Given the description of an element on the screen output the (x, y) to click on. 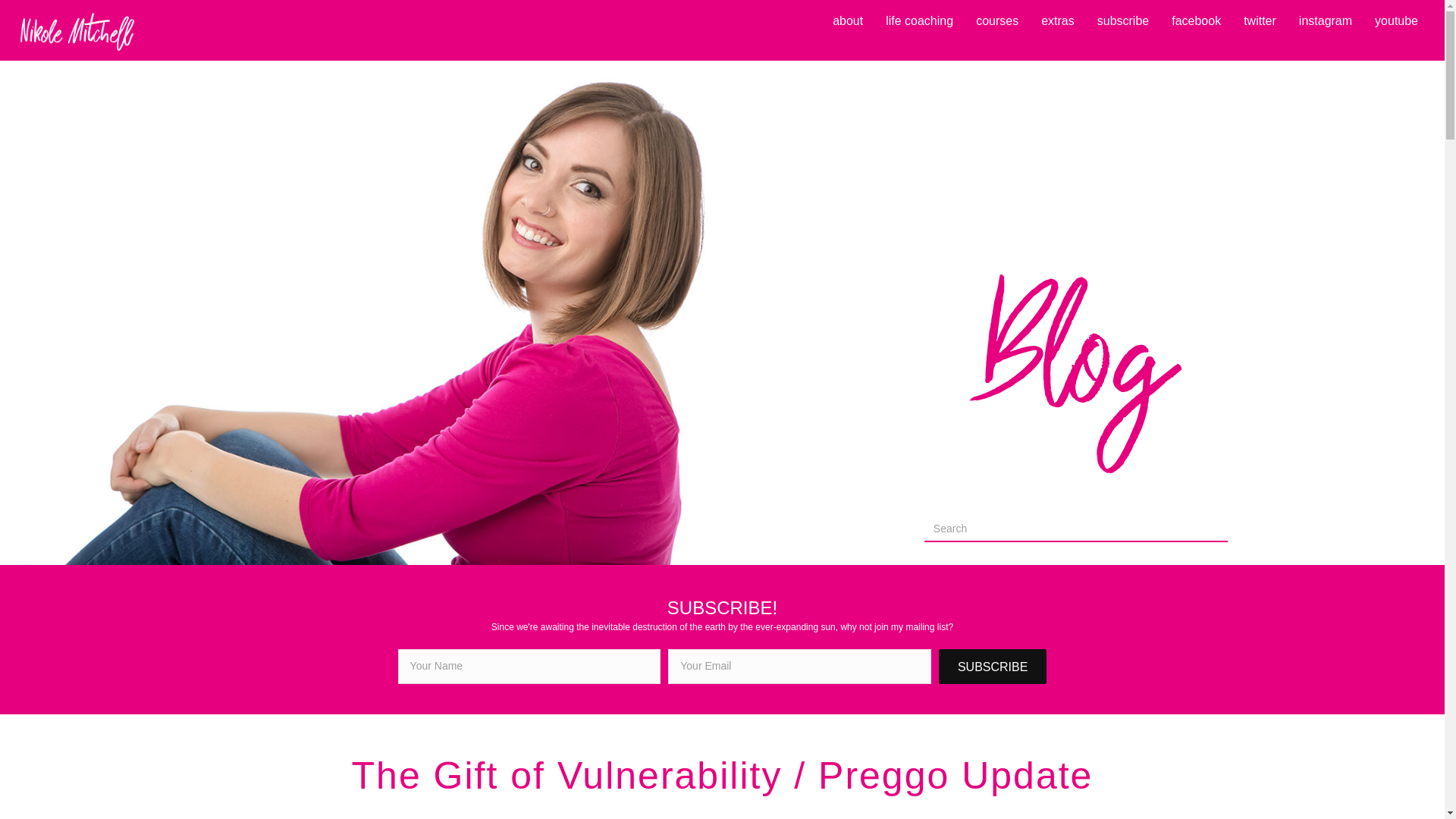
instagram (1325, 21)
subscribe (1122, 21)
extras (1057, 21)
Click Here (992, 666)
youtube (1396, 21)
courses (997, 21)
Type and press Enter to search. (1075, 529)
facebook (1195, 21)
twitter (1260, 21)
blog-text (1075, 367)
life coaching (918, 21)
small-logo (76, 32)
about (847, 21)
